Given the description of an element on the screen output the (x, y) to click on. 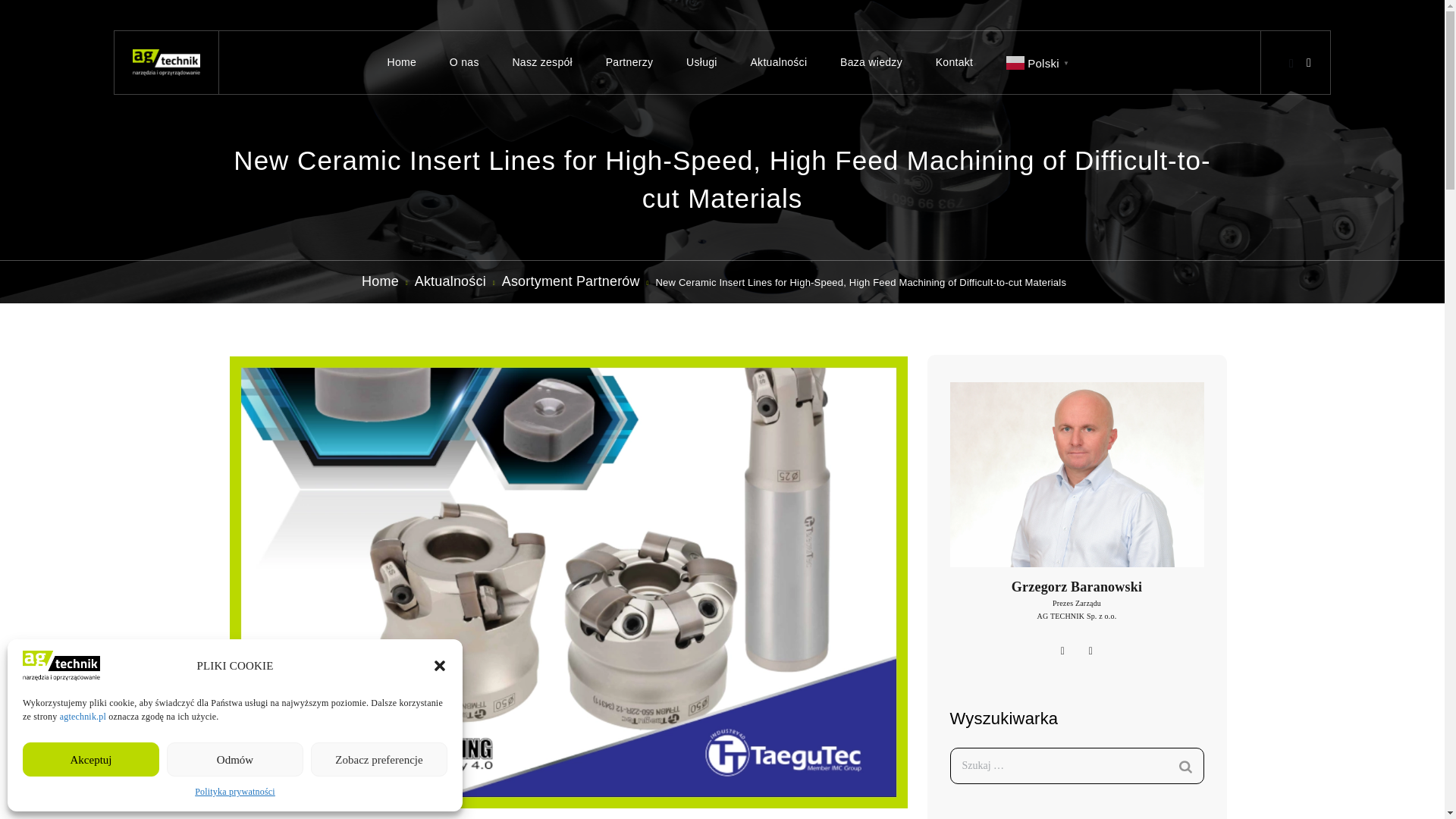
Szukaj (1185, 766)
Akceptuj (90, 759)
Go to AG TECHNIK. (378, 281)
agtechnik.pl (82, 716)
Partnerzy (629, 62)
Zobacz preferencje (378, 759)
Szukaj (1185, 766)
Home (402, 62)
AG TECHNIK (166, 62)
O nas (464, 62)
